Given the description of an element on the screen output the (x, y) to click on. 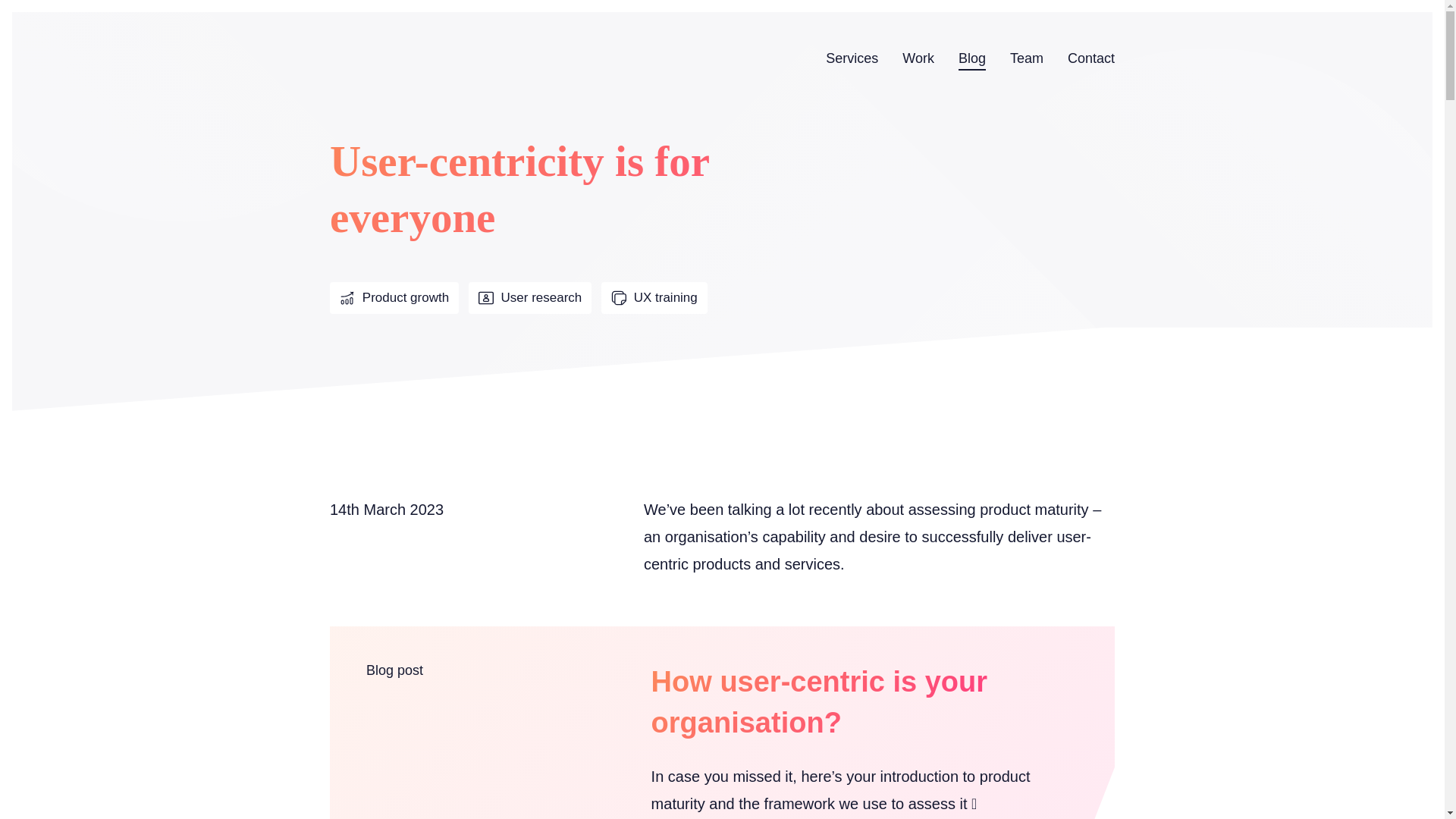
Team (1026, 57)
Work (918, 57)
Product growth (394, 297)
Contact (1091, 57)
Blog (971, 57)
Services (851, 57)
User research (529, 297)
UX training (654, 297)
